Given the description of an element on the screen output the (x, y) to click on. 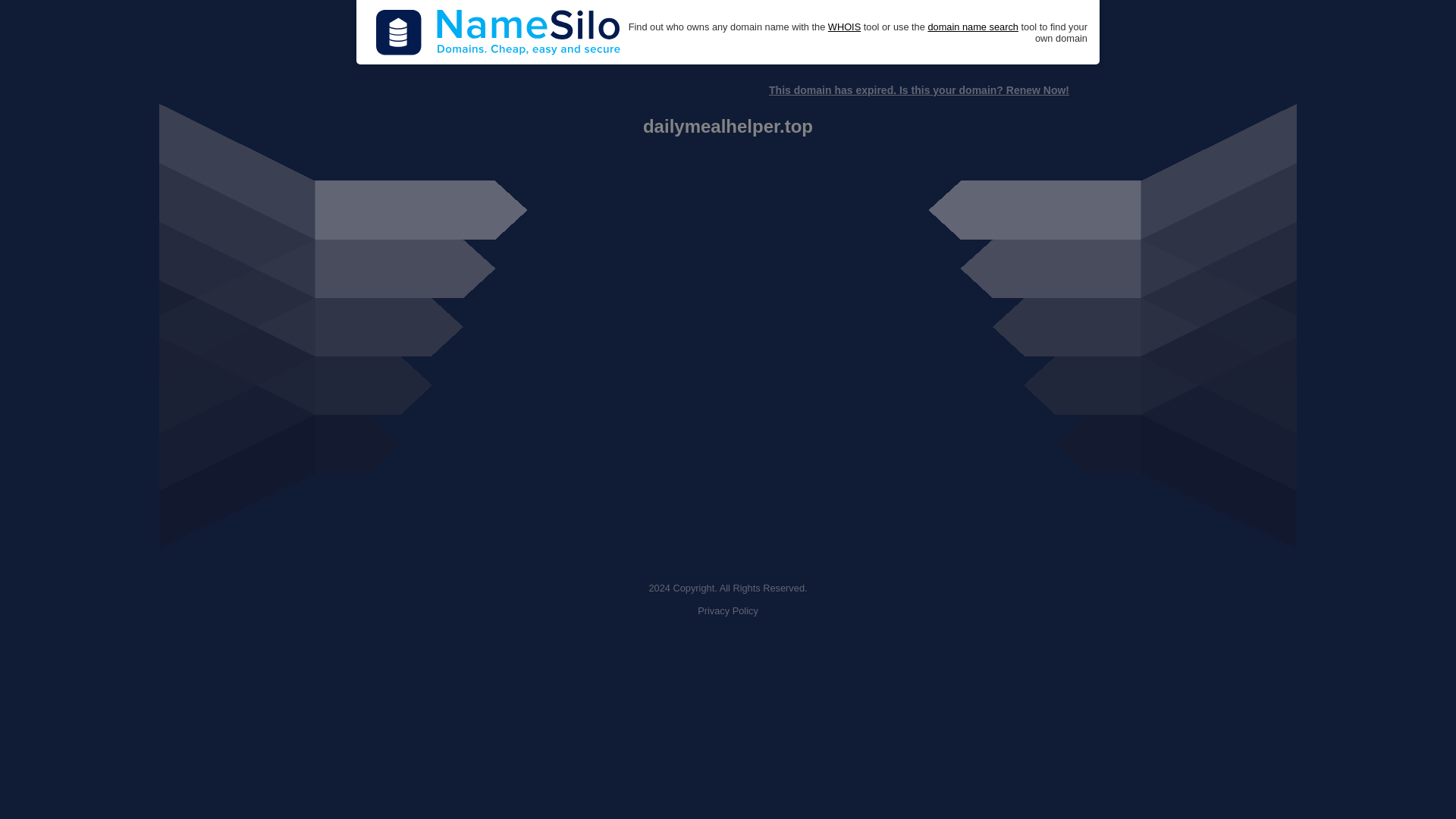
Privacy Policy (727, 610)
This domain has expired. Is this your domain? Renew Now! (918, 90)
WHOIS (844, 26)
domain name search (972, 26)
